Given the description of an element on the screen output the (x, y) to click on. 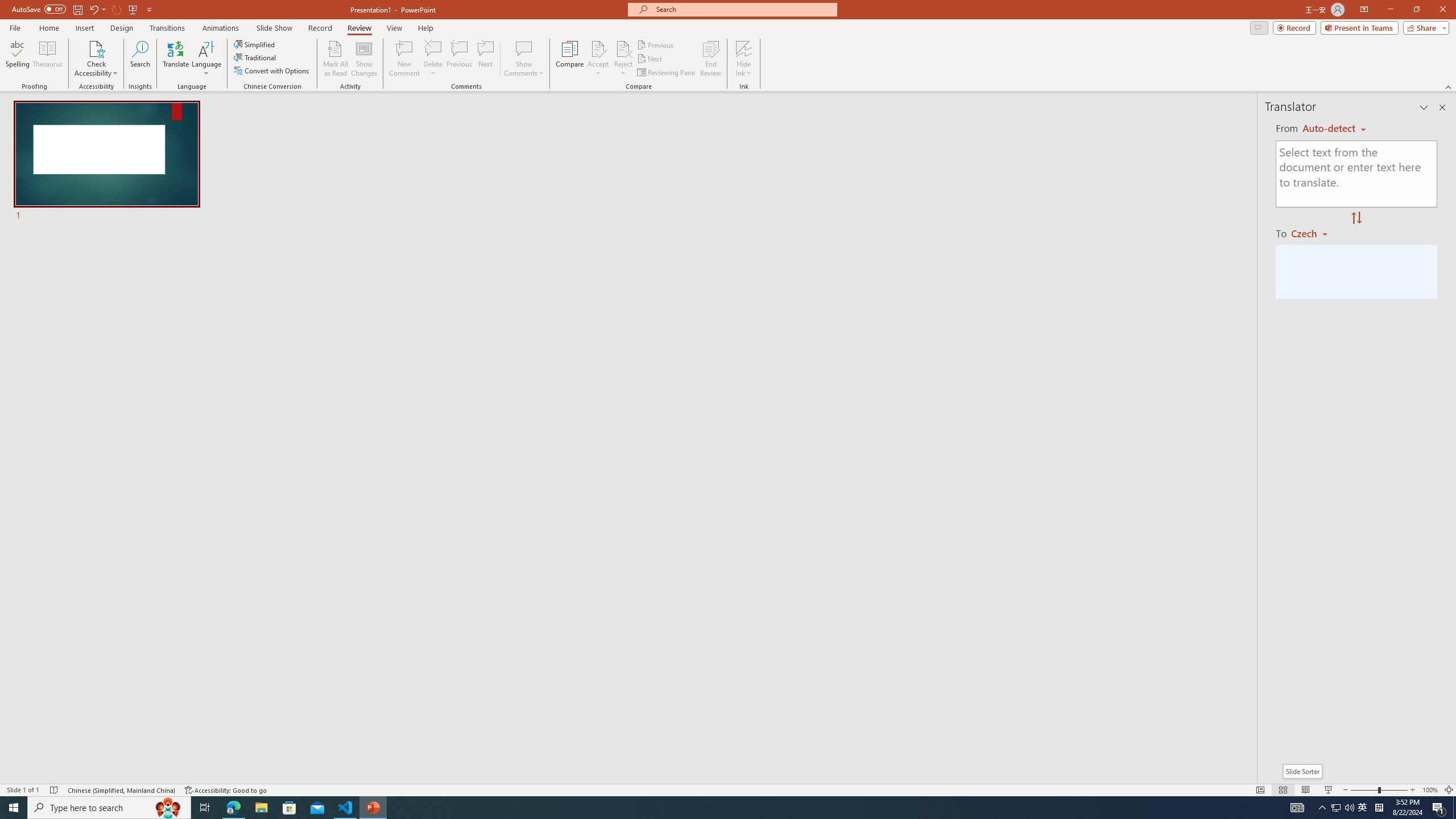
End Review (710, 58)
Microsoft search (742, 9)
Traditional (255, 56)
Convert with Options... (272, 69)
Accept (598, 58)
